Given the description of an element on the screen output the (x, y) to click on. 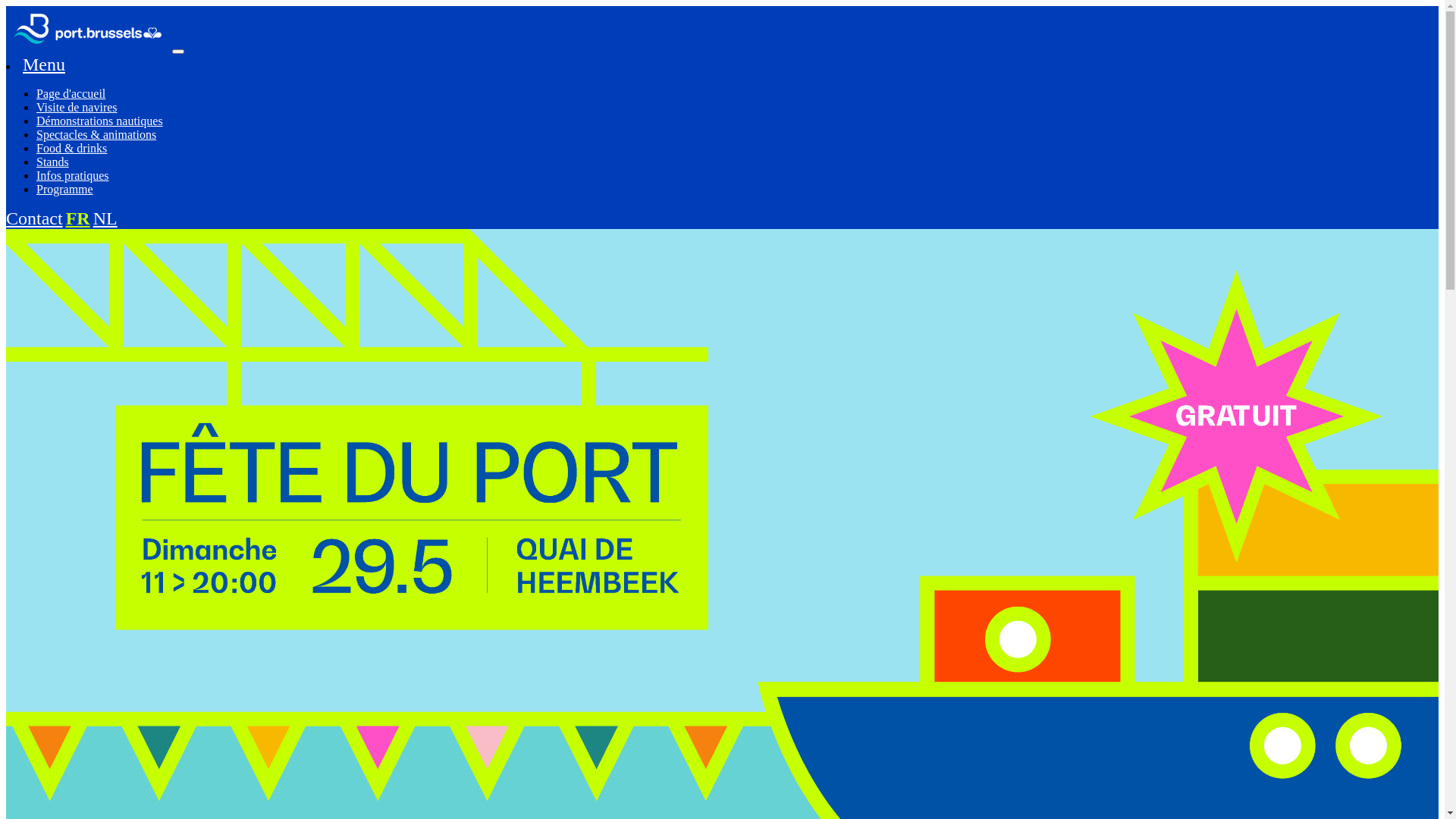
Visite de navires Element type: text (76, 106)
Food & drinks Element type: text (71, 147)
Page d'accueil Element type: text (70, 93)
Programme Element type: text (64, 188)
FR Element type: text (77, 218)
Spectacles & animations Element type: text (96, 134)
NL Element type: text (105, 218)
Contact Element type: text (34, 218)
Infos pratiques Element type: text (72, 175)
Stands Element type: text (52, 161)
Menu Element type: text (43, 64)
